Given the description of an element on the screen output the (x, y) to click on. 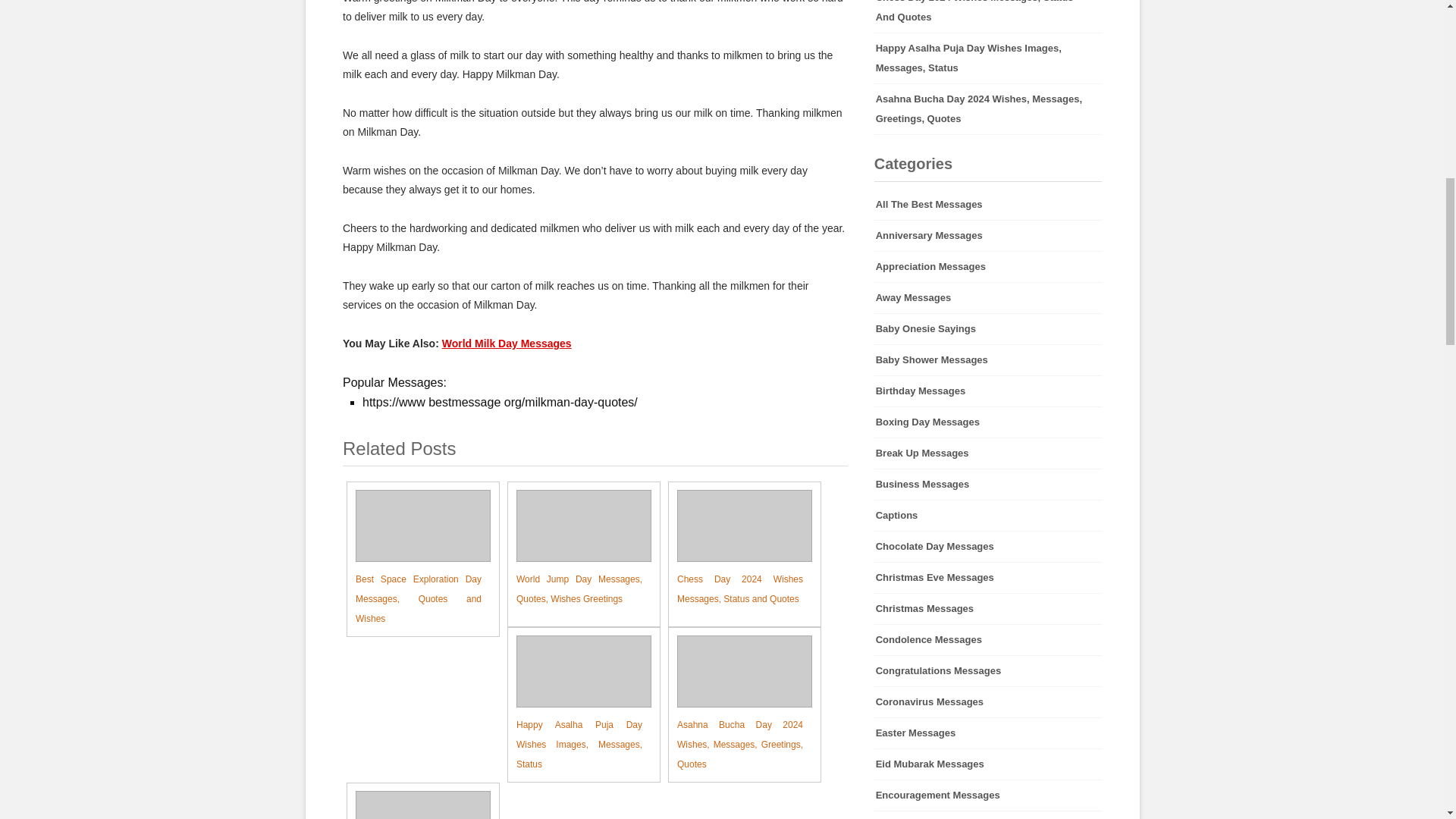
Happy National Lollipop Day Messages, Wishes 2024 (414, 805)
Asahna Bucha Day 2024 Wishes, Messages, Greetings, Quotes (735, 704)
Asahna Bucha Day 2024 Wishes, Messages, Greetings, Quotes (988, 109)
Business Messages (988, 484)
Condolence Messages (988, 639)
Captions (988, 515)
Break Up Messages (988, 453)
Happy Asalha Puja Day Wishes Images, Messages, Status (575, 704)
Chess Day 2024 Wishes Messages, Status and Quotes (735, 549)
Appreciation Messages (988, 266)
Best Space Exploration Day Messages, Quotes and Wishes (414, 558)
Chess Day 2024 Wishes Messages, Status and Quotes (735, 549)
Best Space Exploration Day Messages, Quotes and Wishes (414, 558)
Happy Asalha Puja Day Wishes Images, Messages, Status (988, 58)
Happy Asalha Puja Day Wishes Images, Messages, Status (575, 704)
